Given the description of an element on the screen output the (x, y) to click on. 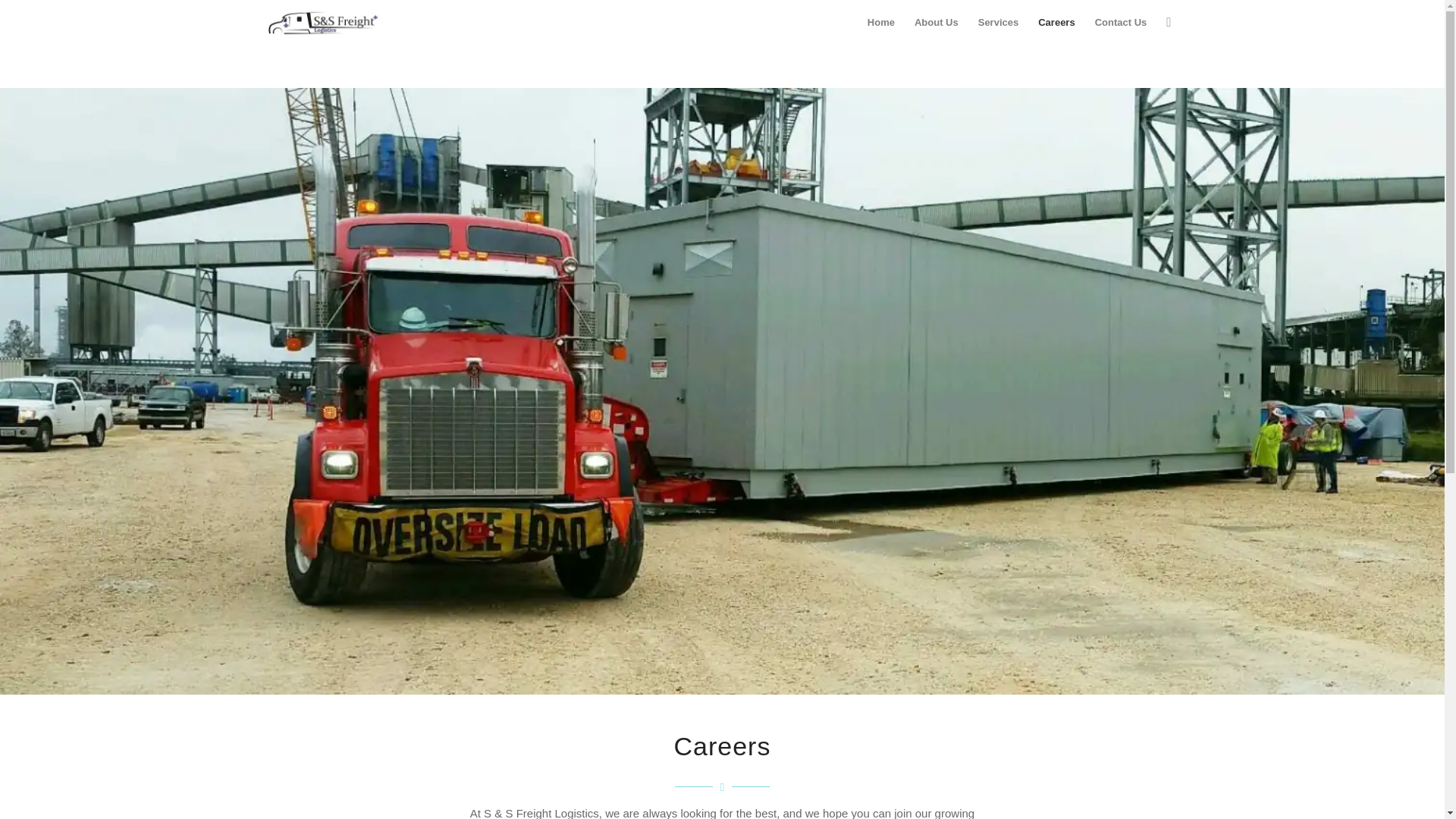
Contact Us (1120, 22)
About Us (936, 22)
Services (998, 22)
Careers (1055, 22)
Home (880, 22)
